Given the description of an element on the screen output the (x, y) to click on. 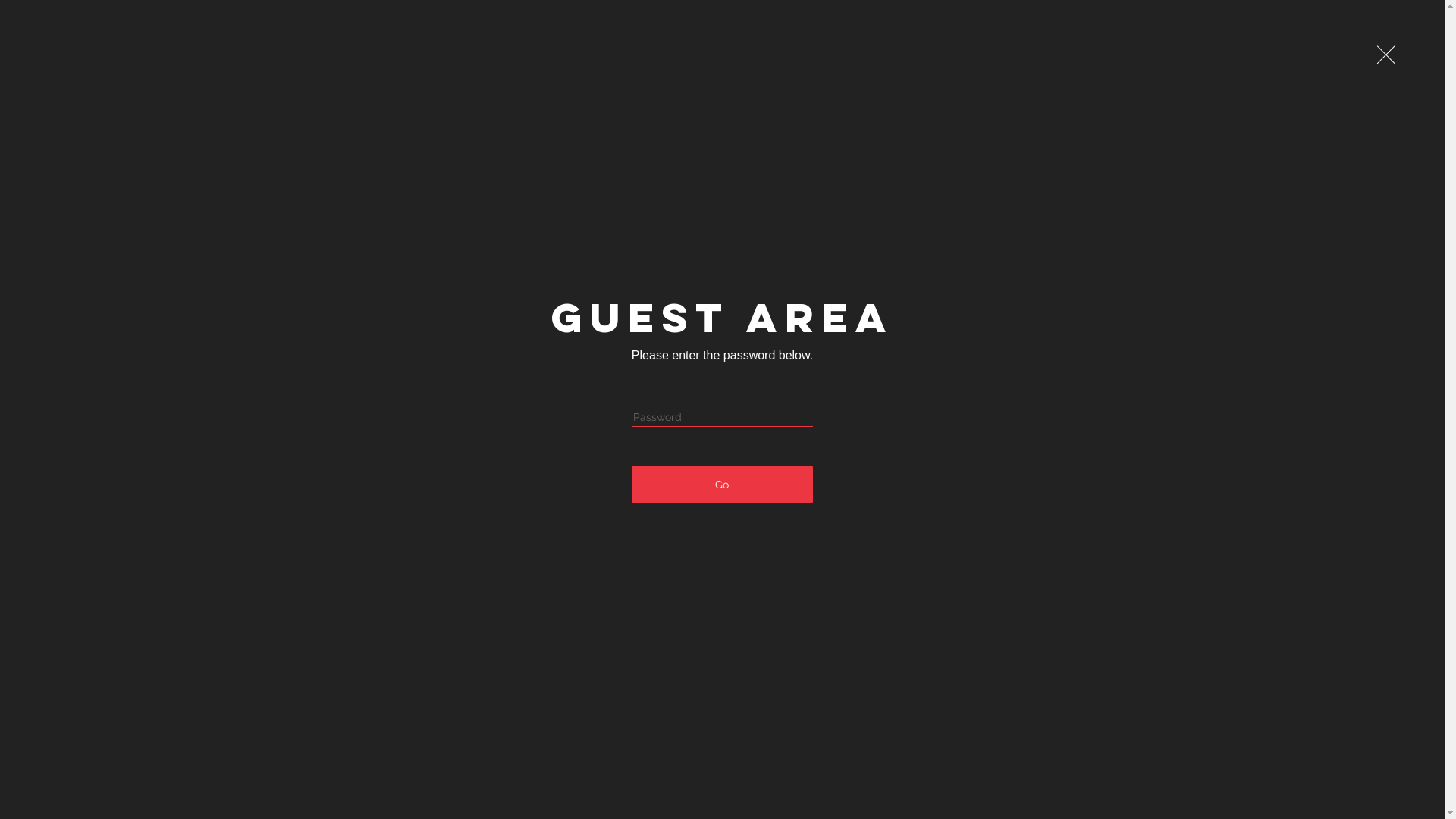
Go Element type: text (721, 484)
